Given the description of an element on the screen output the (x, y) to click on. 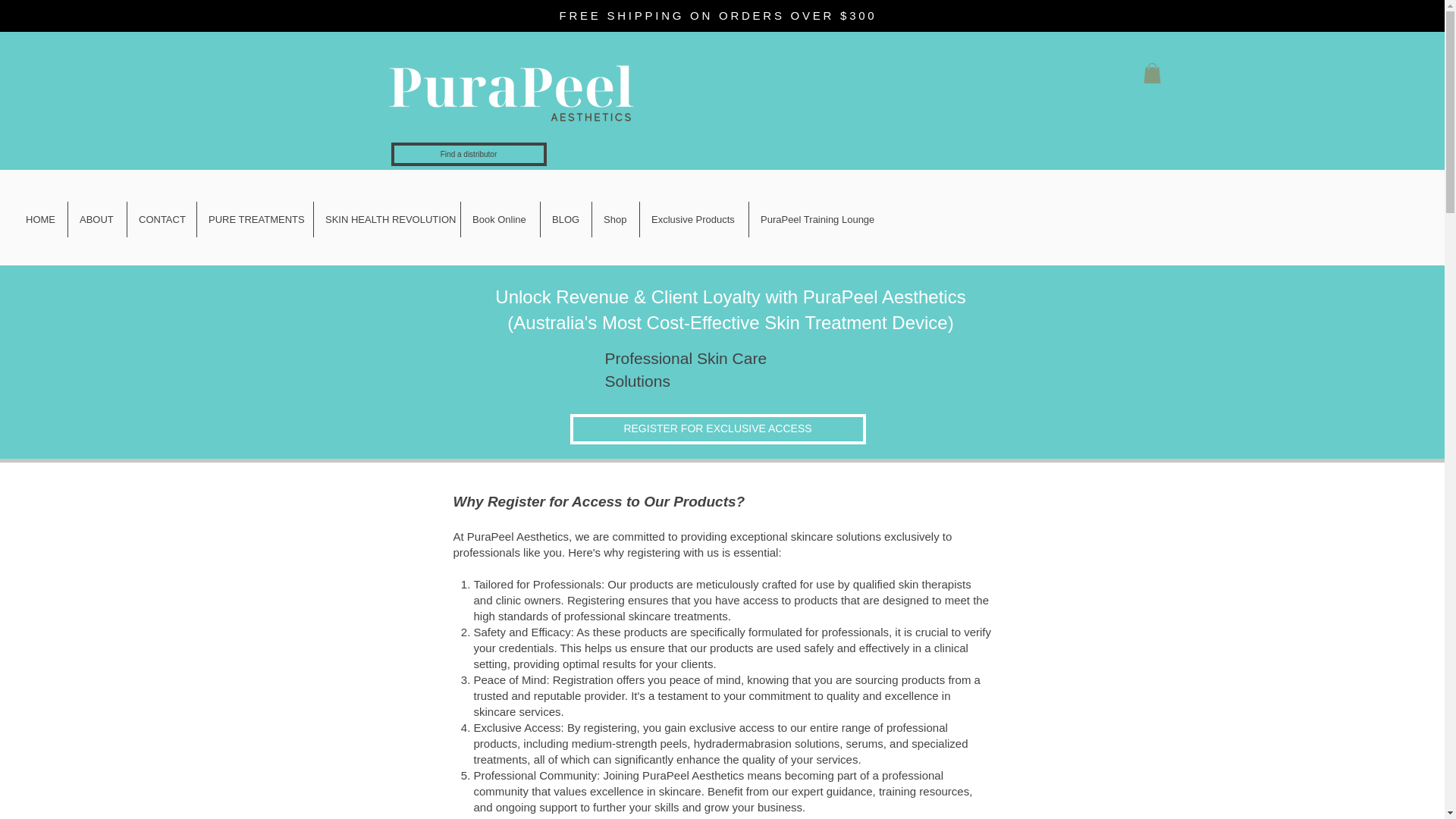
PuraPeel Training Lounge (820, 219)
Exclusive Products (694, 219)
Shop (615, 219)
SKIN HEALTH REVOLUTION (387, 219)
BLOG (565, 219)
PURE TREATMENTS (254, 219)
CONTACT (162, 219)
REGISTER FOR EXCLUSIVE ACCESS (718, 429)
Find a distributor (469, 154)
HOME (40, 219)
ABOUT (97, 219)
Book Online (500, 219)
